Given the description of an element on the screen output the (x, y) to click on. 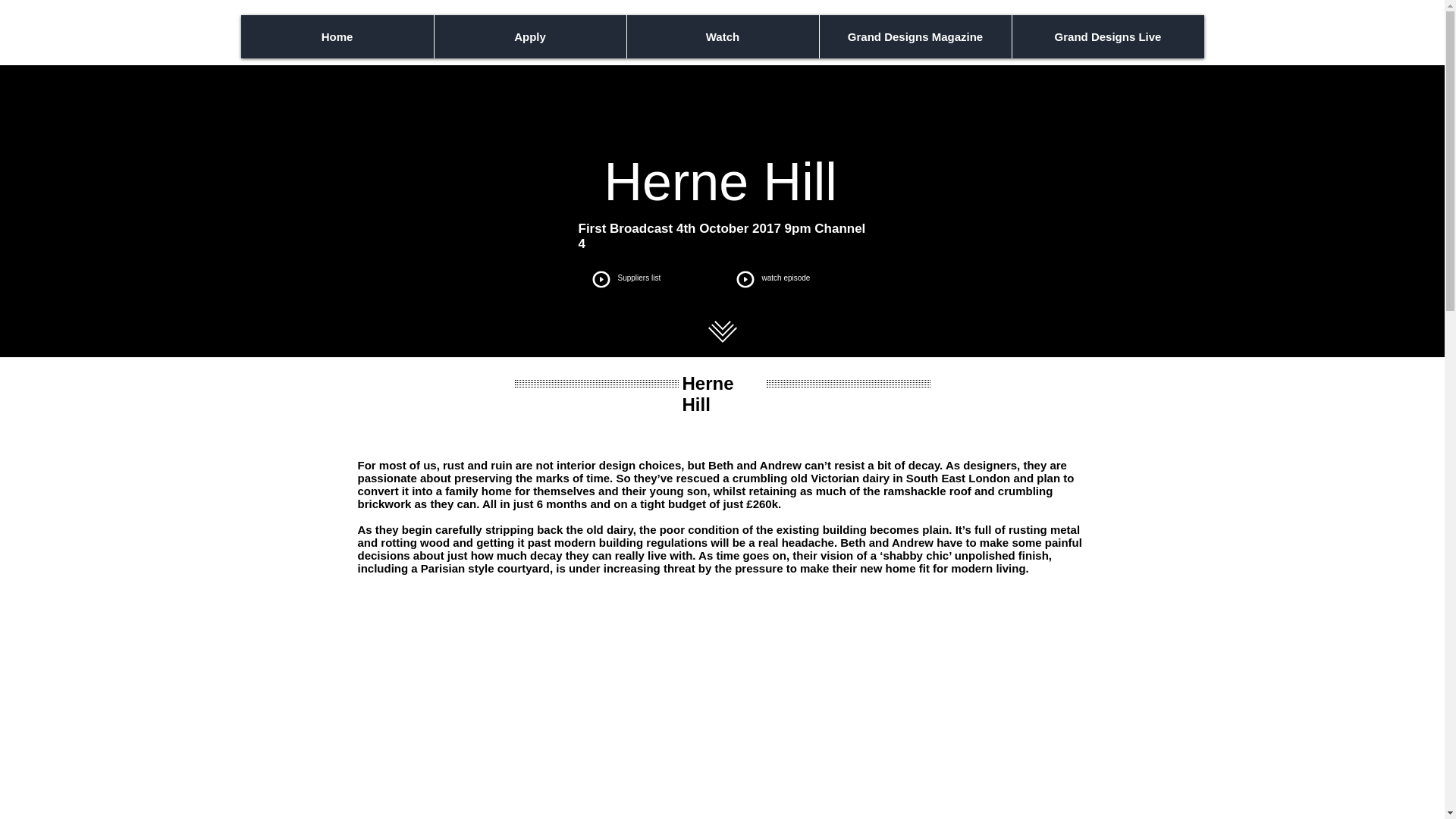
watch episode (785, 277)
Grand Designs Magazine (914, 36)
Suppliers list (639, 277)
Apply (529, 36)
Home (337, 36)
Grand Designs Live (1107, 36)
Watch (722, 36)
